Given the description of an element on the screen output the (x, y) to click on. 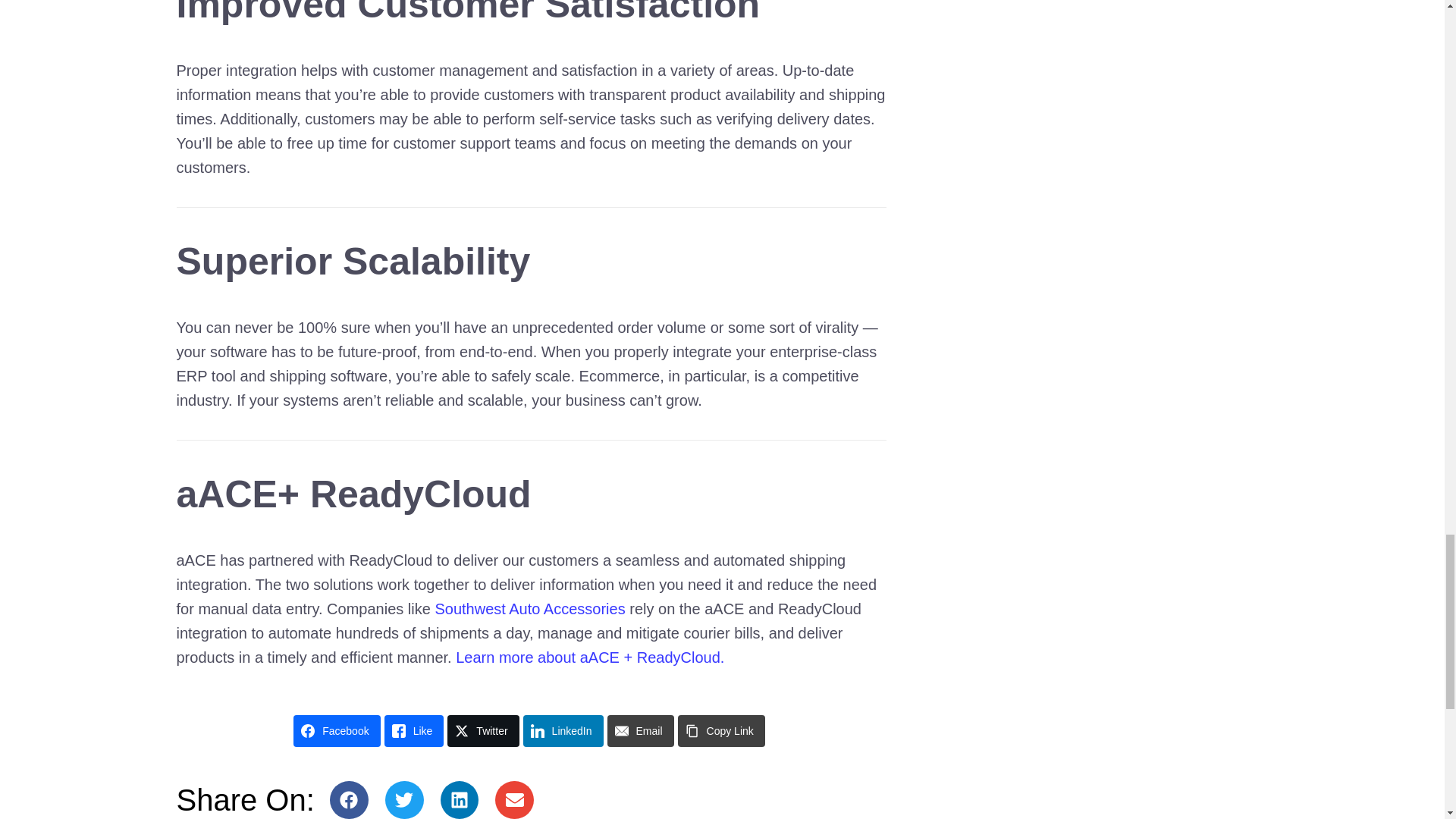
Share on LinkedIn (563, 730)
Share on Facebook (337, 730)
Share on Twitter (482, 730)
Share on Copy Link (721, 730)
Share on Email (640, 730)
Share on Like (414, 730)
